Given the description of an element on the screen output the (x, y) to click on. 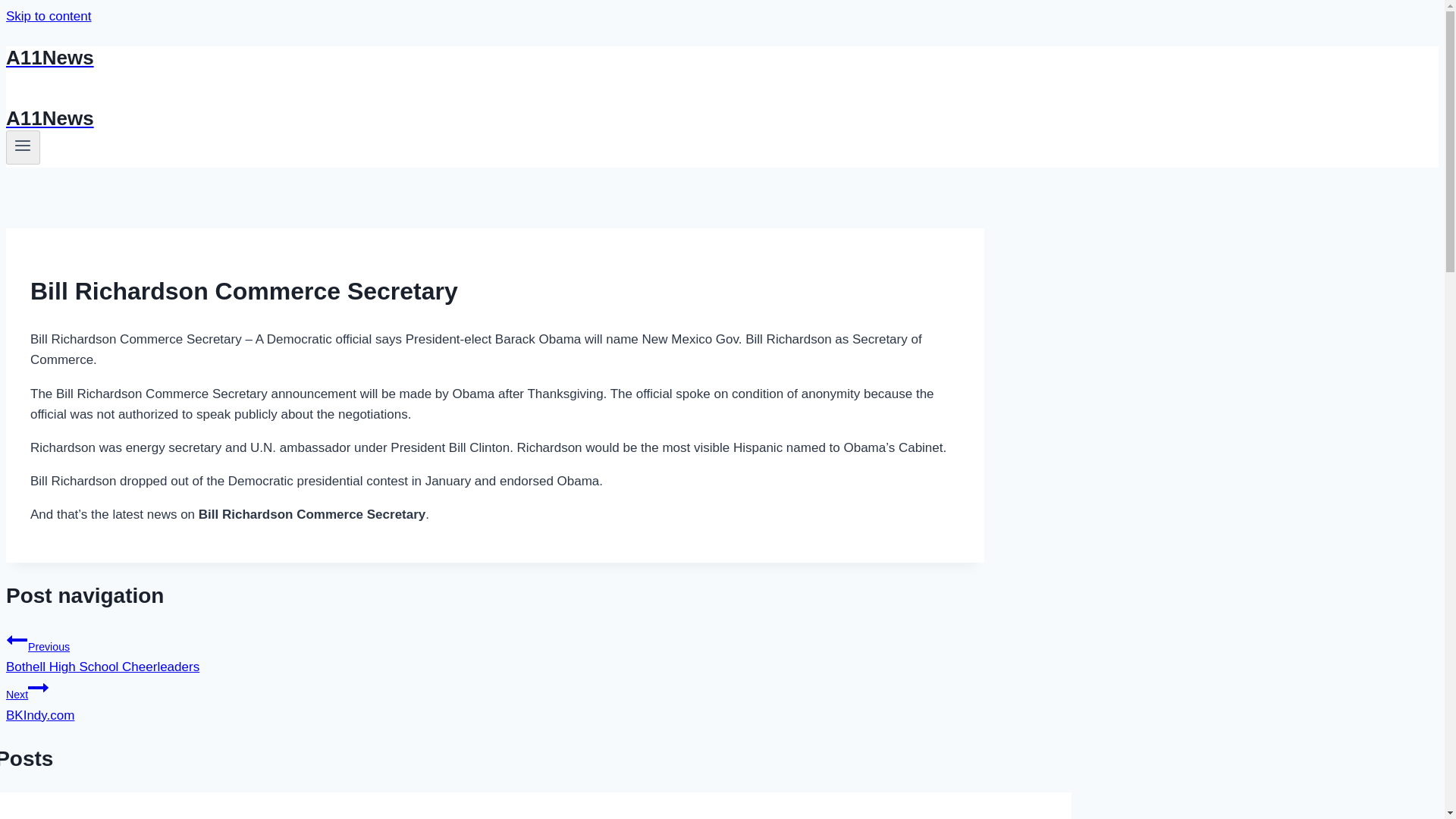
Skip to content (47, 16)
Skip to content (47, 16)
Continue (37, 687)
Previous (16, 639)
Toggle Menu (22, 146)
Toggle Menu (494, 651)
A11News (494, 699)
A11News (22, 145)
